Given the description of an element on the screen output the (x, y) to click on. 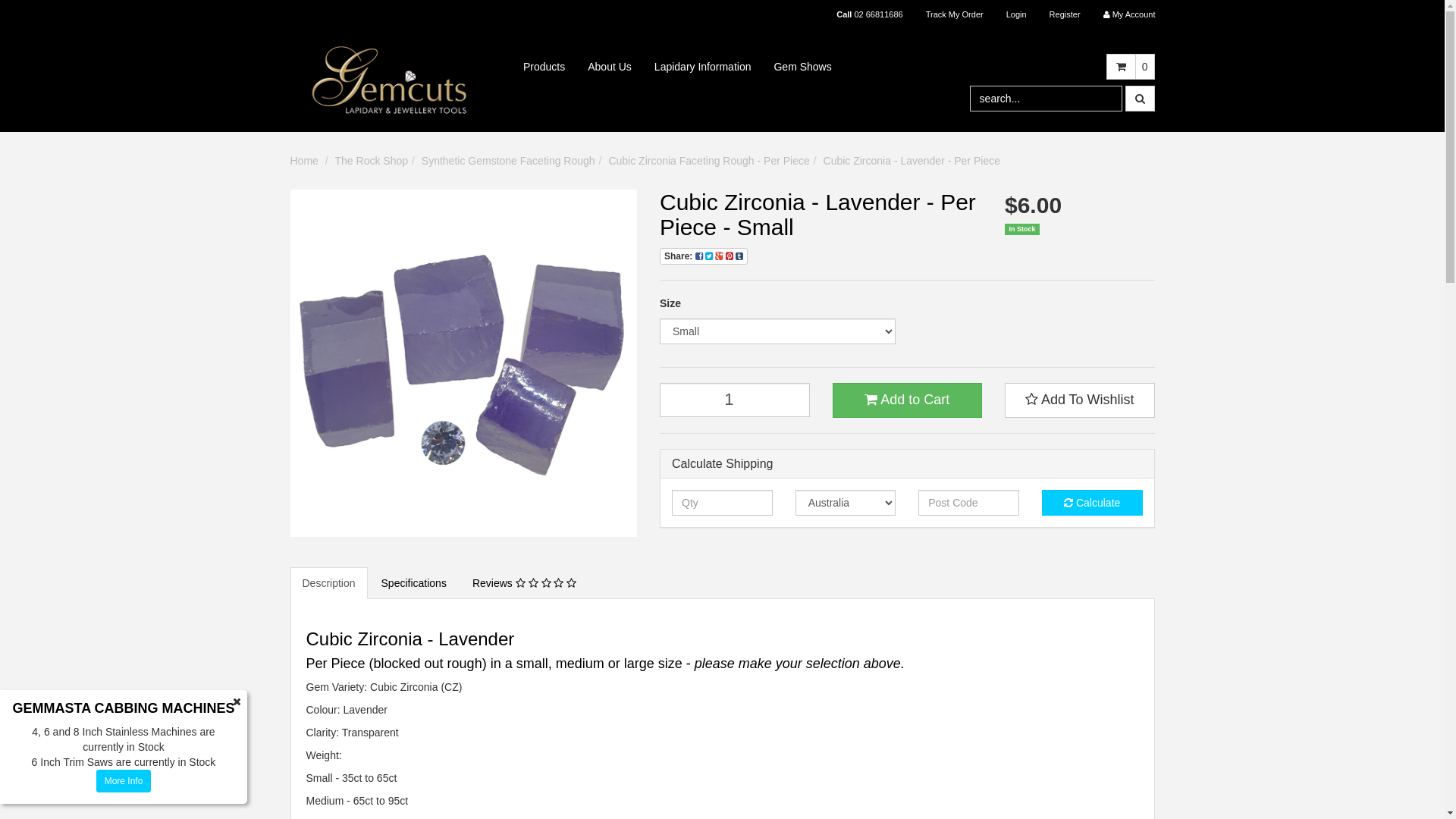
Specifications Element type: text (413, 583)
Home Element type: text (303, 160)
Products Element type: text (543, 66)
Add to Cart Element type: text (907, 399)
Login Element type: text (1016, 14)
My Account Element type: text (1129, 14)
Cubic Zirconia Faceting Rough - Per Piece Element type: text (708, 160)
The Rock Shop Element type: text (371, 160)
Description Element type: text (328, 583)
Gem Shows Element type: text (802, 66)
Track My Order Element type: text (954, 14)
Register Element type: text (1065, 14)
Lapidary Information Element type: text (702, 66)
Calculate Element type: text (1091, 502)
Gemcuts Element type: hover (389, 79)
0 Element type: text (1144, 66)
More Info Element type: text (123, 780)
Call 02 66811686 Element type: text (869, 14)
Add To Wishlist Element type: text (1079, 399)
Share: Element type: text (703, 255)
Synthetic Gemstone Faceting Rough Element type: text (508, 160)
Search Element type: text (1139, 98)
Reviews Element type: text (524, 583)
Cubic Zirconia - Lavender - Per Piece Element type: text (911, 160)
About Us Element type: text (609, 66)
